Given the description of an element on the screen output the (x, y) to click on. 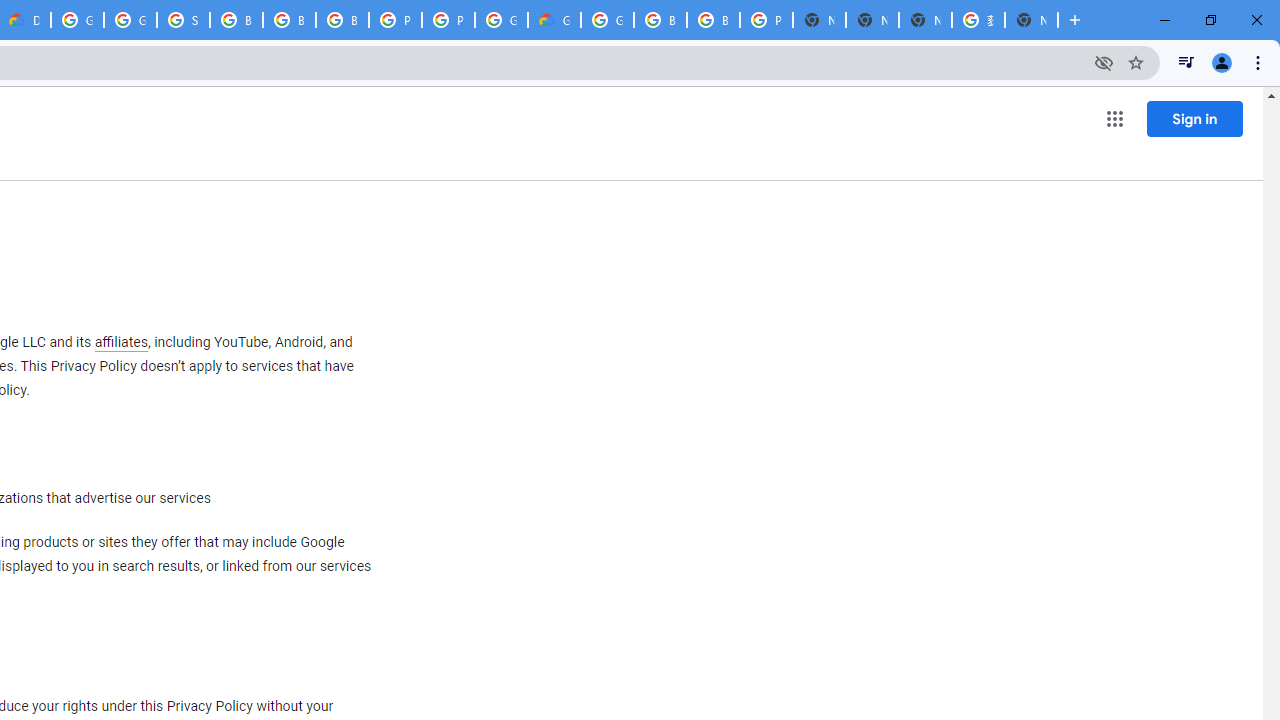
Browse Chrome as a guest - Computer - Google Chrome Help (342, 20)
Google Cloud Platform (77, 20)
Control your music, videos, and more (1185, 62)
Google Cloud Platform (501, 20)
Browse Chrome as a guest - Computer - Google Chrome Help (289, 20)
Browse Chrome as a guest - Computer - Google Chrome Help (235, 20)
New Tab (1031, 20)
